Given the description of an element on the screen output the (x, y) to click on. 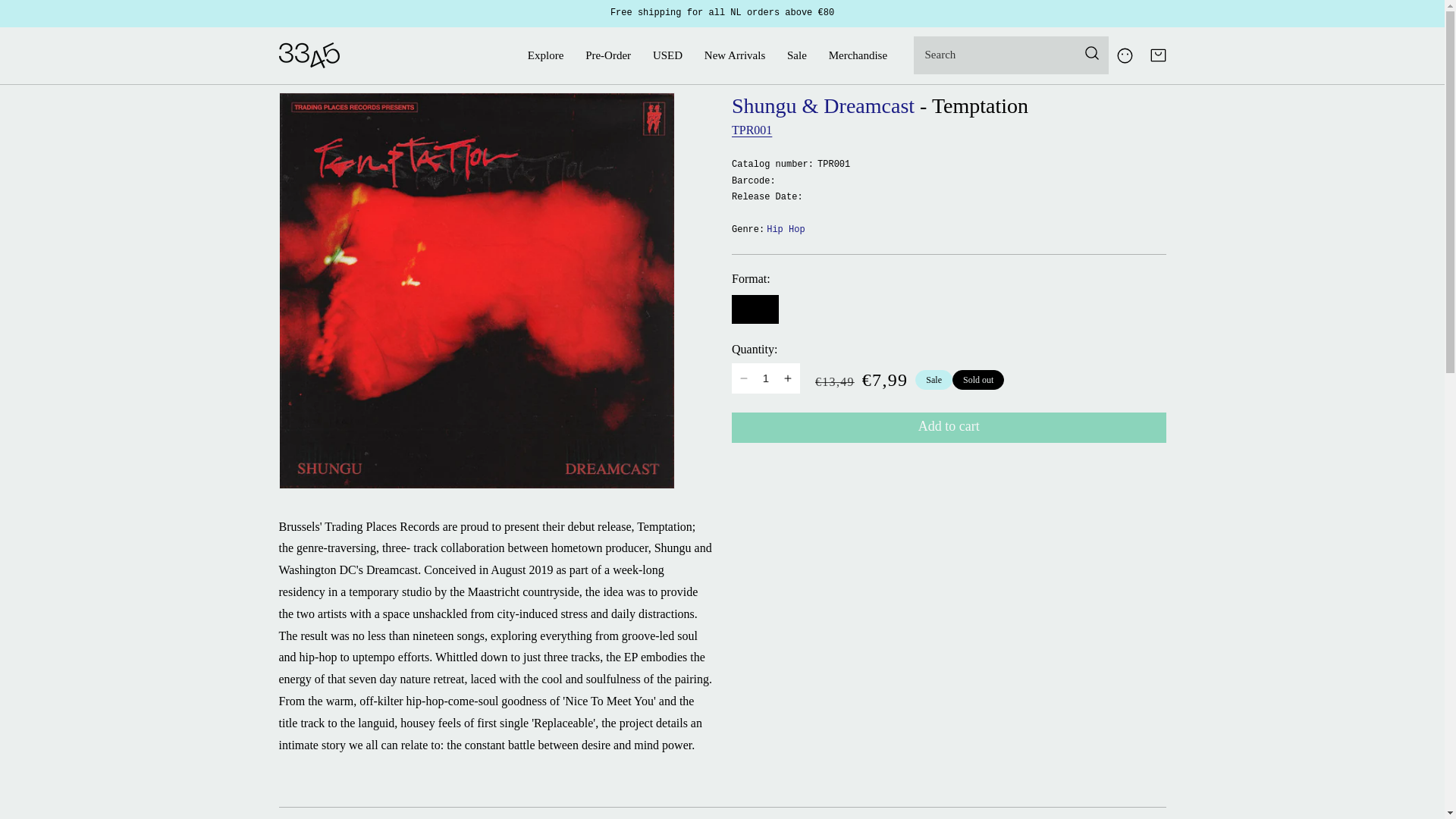
Explore (544, 56)
Hip Hop (786, 230)
Pre-Order (608, 56)
TPR001 (751, 130)
Skip to product information (332, 106)
USED (667, 56)
Add to cart (949, 427)
Skip to content (54, 14)
Merchandise (857, 56)
New Arrivals (734, 56)
